Given the description of an element on the screen output the (x, y) to click on. 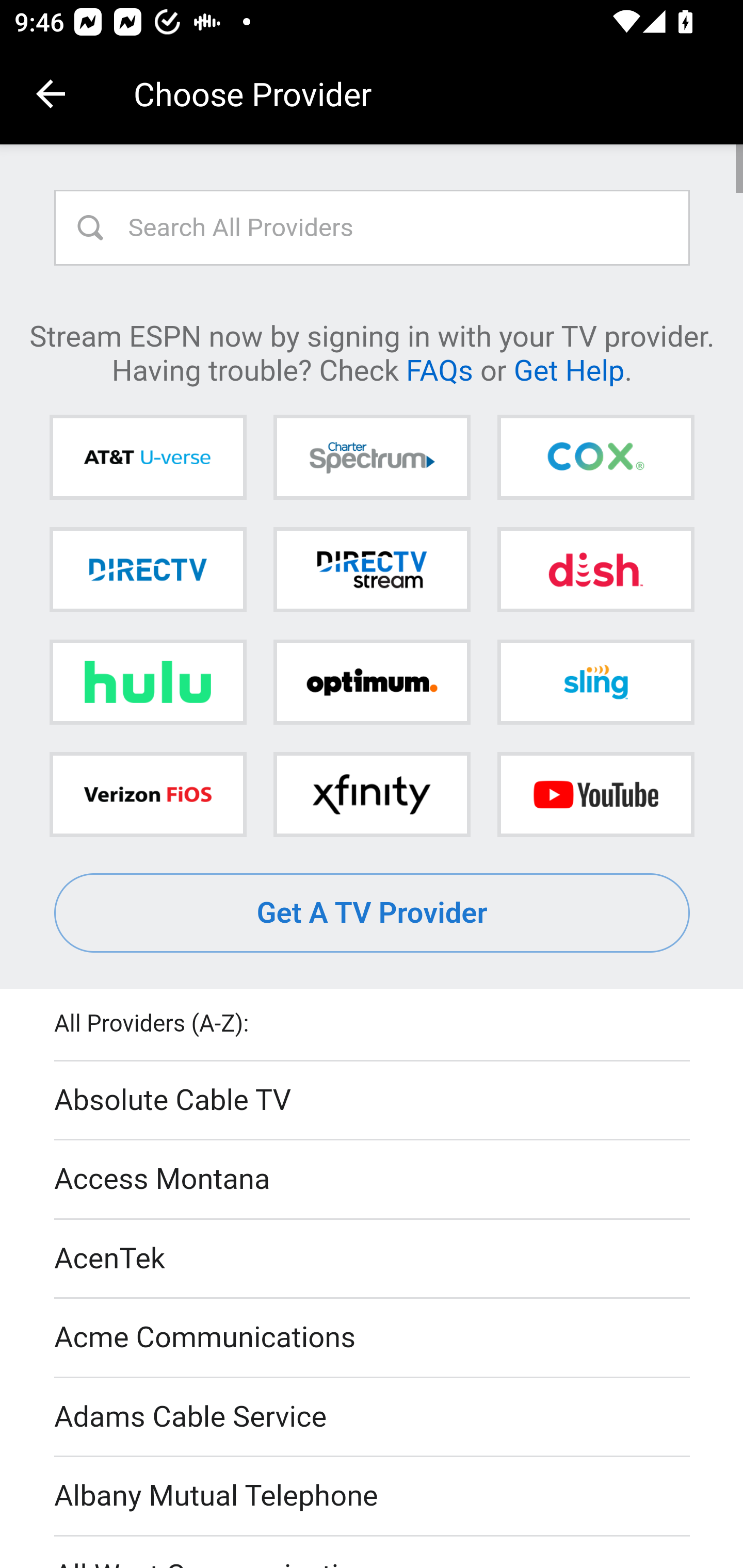
Navigate up (50, 93)
FAQs (438, 369)
Get Help (569, 369)
AT&T U-verse (147, 457)
Charter Spectrum (371, 457)
Cox (595, 457)
DIRECTV (147, 568)
DIRECTV STREAM (371, 568)
DISH (595, 568)
Hulu (147, 681)
Optimum (371, 681)
Sling TV (595, 681)
Verizon FiOS (147, 793)
Xfinity (371, 793)
YouTube TV (595, 793)
Get A TV Provider (372, 912)
Absolute Cable TV (372, 1100)
Access Montana (372, 1178)
AcenTek (372, 1258)
Acme Communications (372, 1338)
Adams Cable Service (372, 1417)
Albany Mutual Telephone (372, 1497)
